Given the description of an element on the screen output the (x, y) to click on. 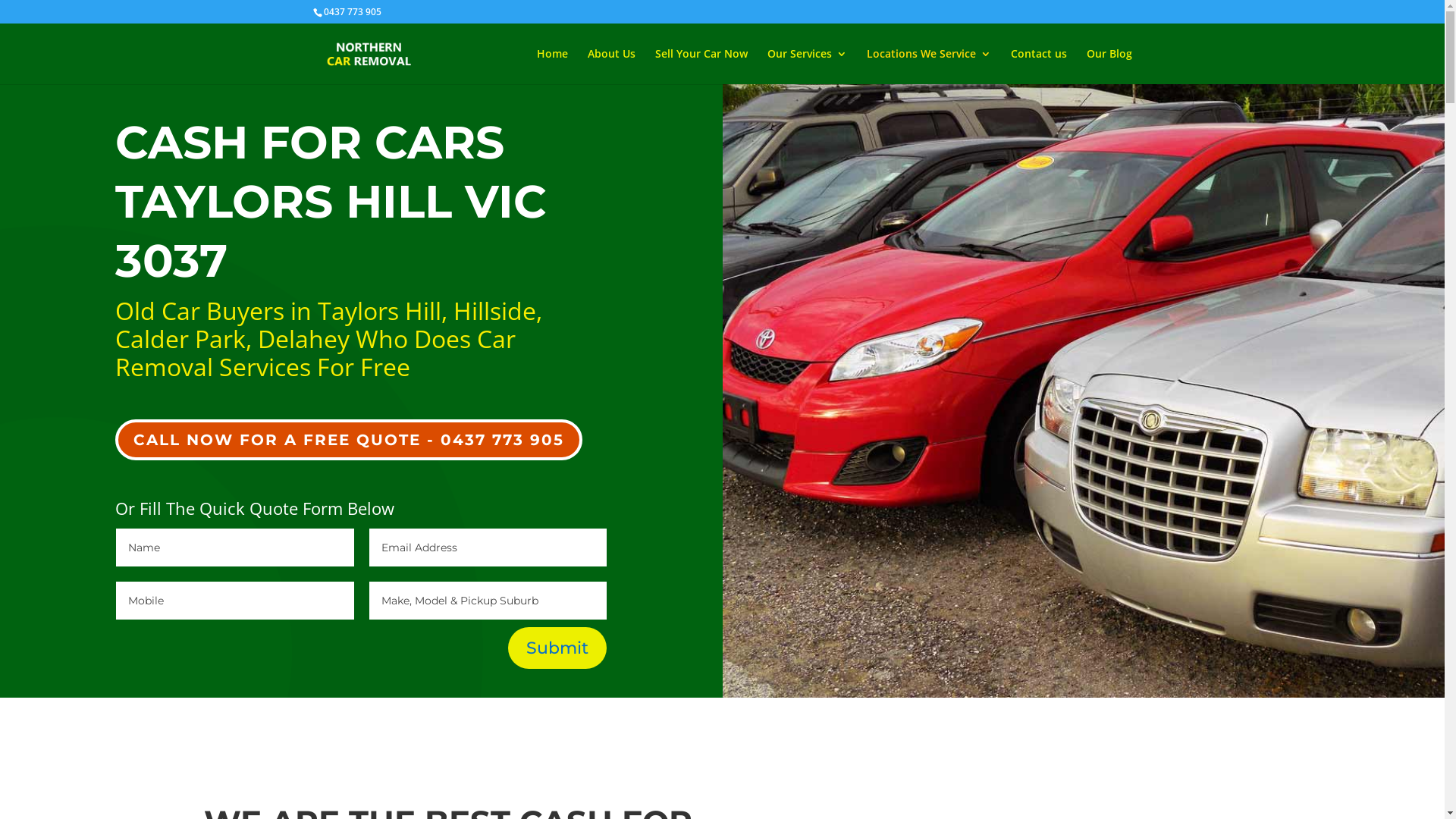
Home Element type: text (551, 66)
Submit Element type: text (557, 647)
Our Blog Element type: text (1108, 66)
Locations We Service Element type: text (928, 66)
About Us Element type: text (610, 66)
Contact us Element type: text (1038, 66)
Our Services Element type: text (807, 66)
Sell Your Car Now Element type: text (701, 66)
CALL NOW FOR A FREE QUOTE - 0437 773 905 Element type: text (348, 439)
